Given the description of an element on the screen output the (x, y) to click on. 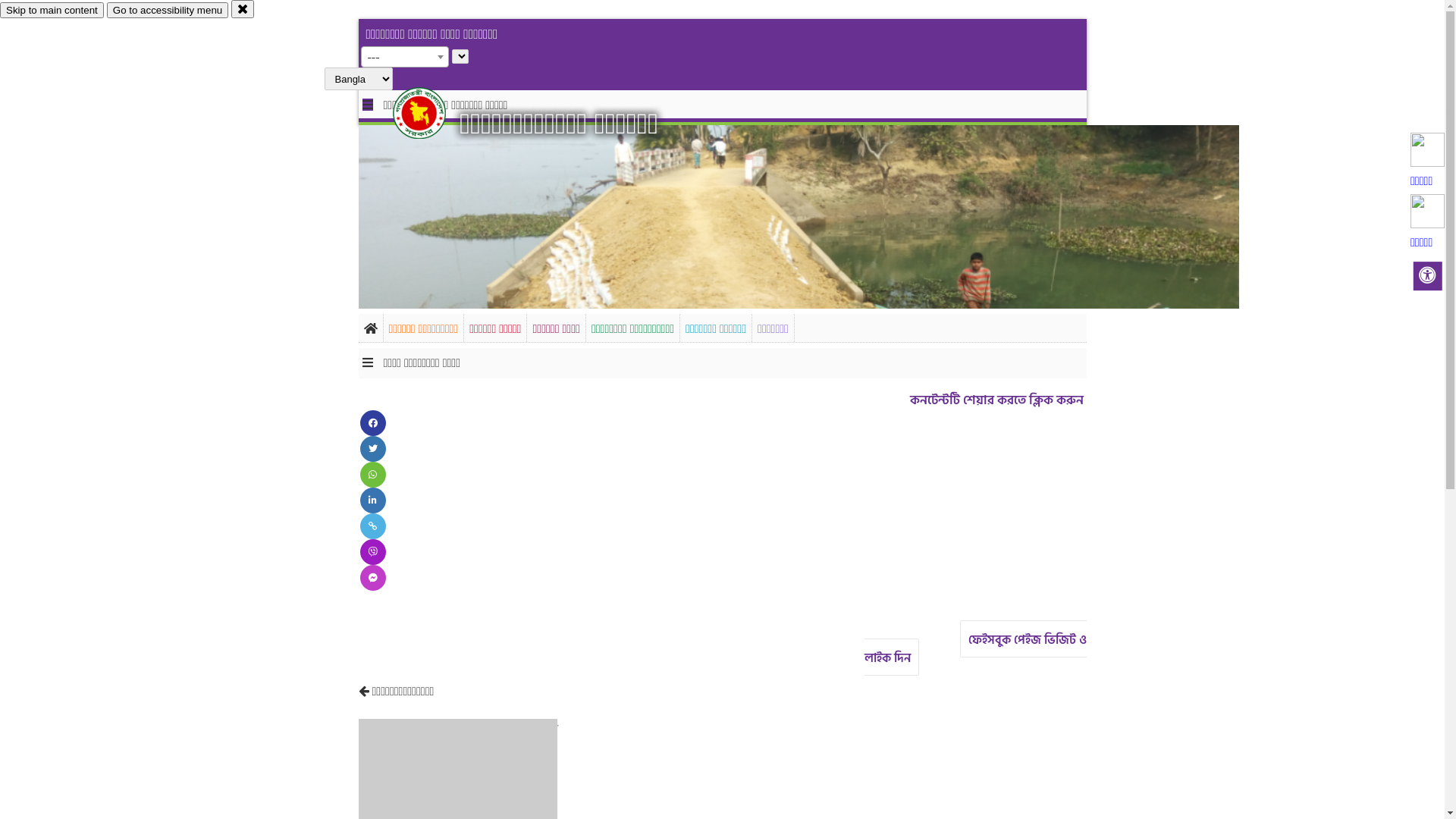
close Element type: hover (242, 9)
Go to accessibility menu Element type: text (167, 10)

                
             Element type: hover (431, 112)
Skip to main content Element type: text (51, 10)
